Given the description of an element on the screen output the (x, y) to click on. 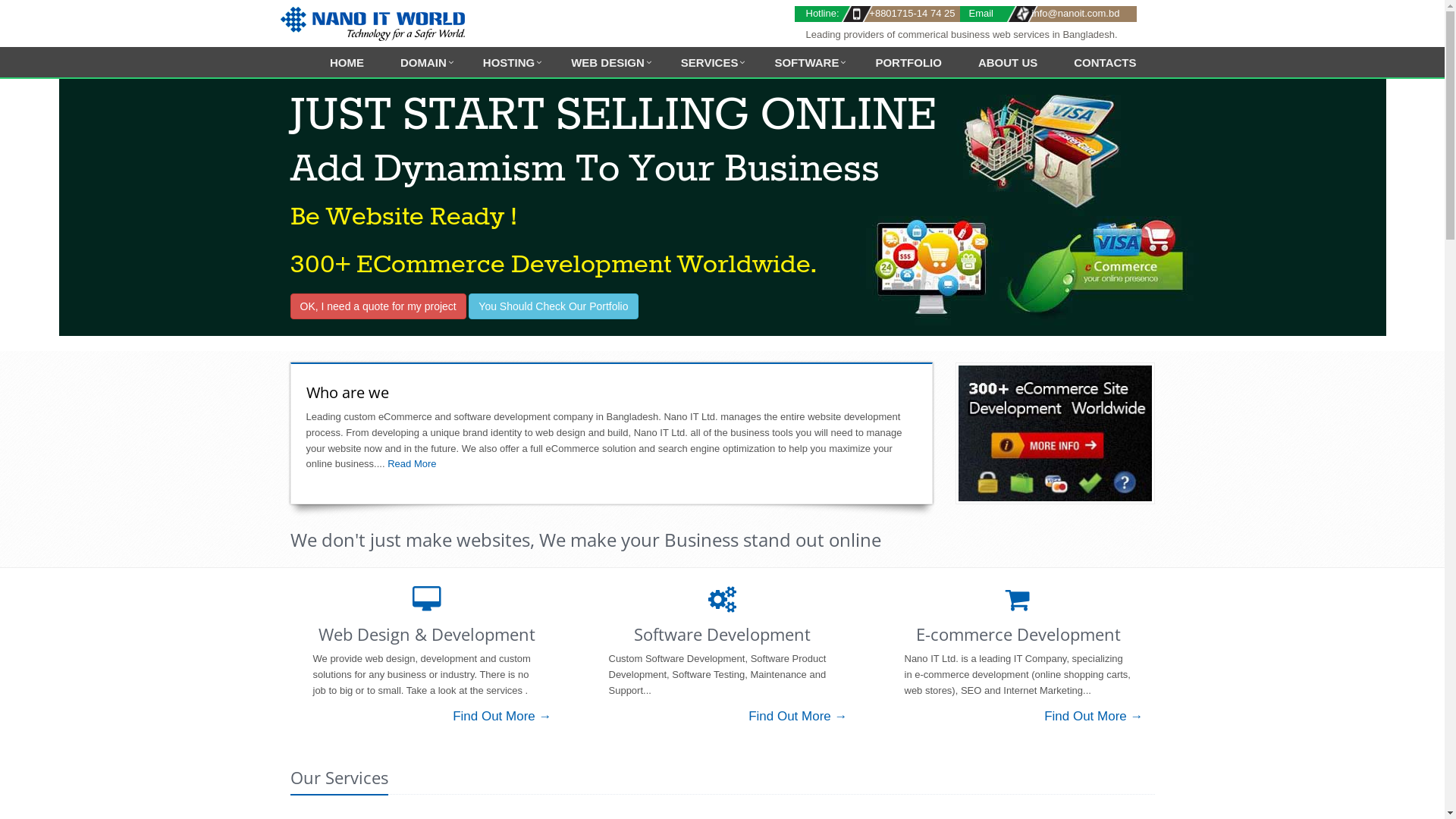
HOME Element type: text (346, 63)
ABOUT US Element type: text (1007, 63)
You Should Check Our Portfolio Element type: text (552, 306)
DOMAIN Element type: text (423, 63)
WEB DESIGN Element type: text (607, 63)
OK, I need a quote for my project Element type: text (377, 306)
CONTACTS Element type: text (1104, 63)
SERVICES Element type: text (709, 63)
HOSTING Element type: text (508, 63)
Read More Element type: text (410, 463)
PORTFOLIO Element type: text (908, 63)
SOFTWARE Element type: text (806, 63)
